Given the description of an element on the screen output the (x, y) to click on. 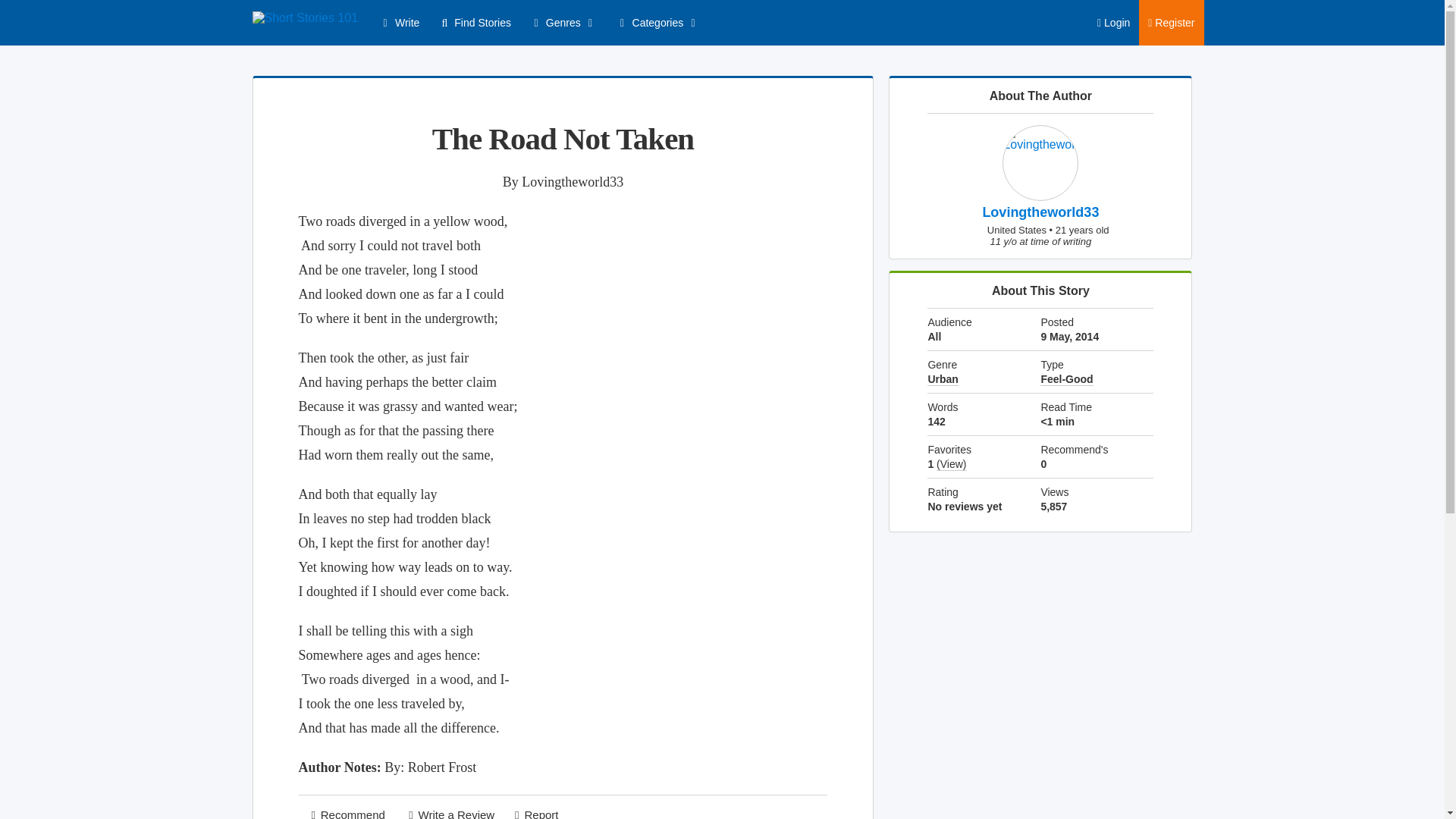
Short Stories 101 (305, 18)
Write (398, 22)
Find Stories (473, 22)
Register (1171, 22)
